Given the description of an element on the screen output the (x, y) to click on. 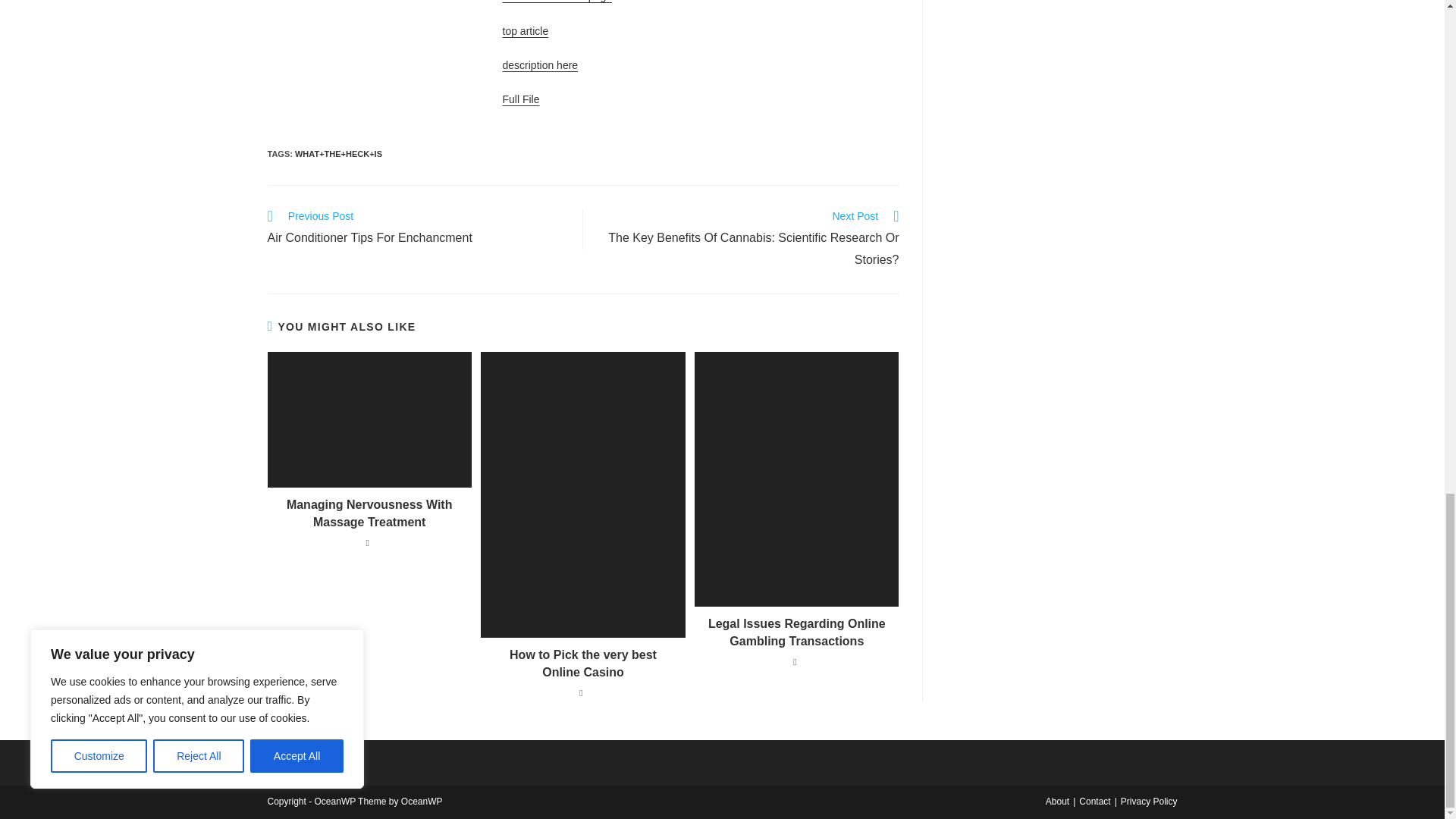
description here (416, 228)
top article (540, 64)
Visit the next web page (525, 30)
Full File (556, 1)
